Given the description of an element on the screen output the (x, y) to click on. 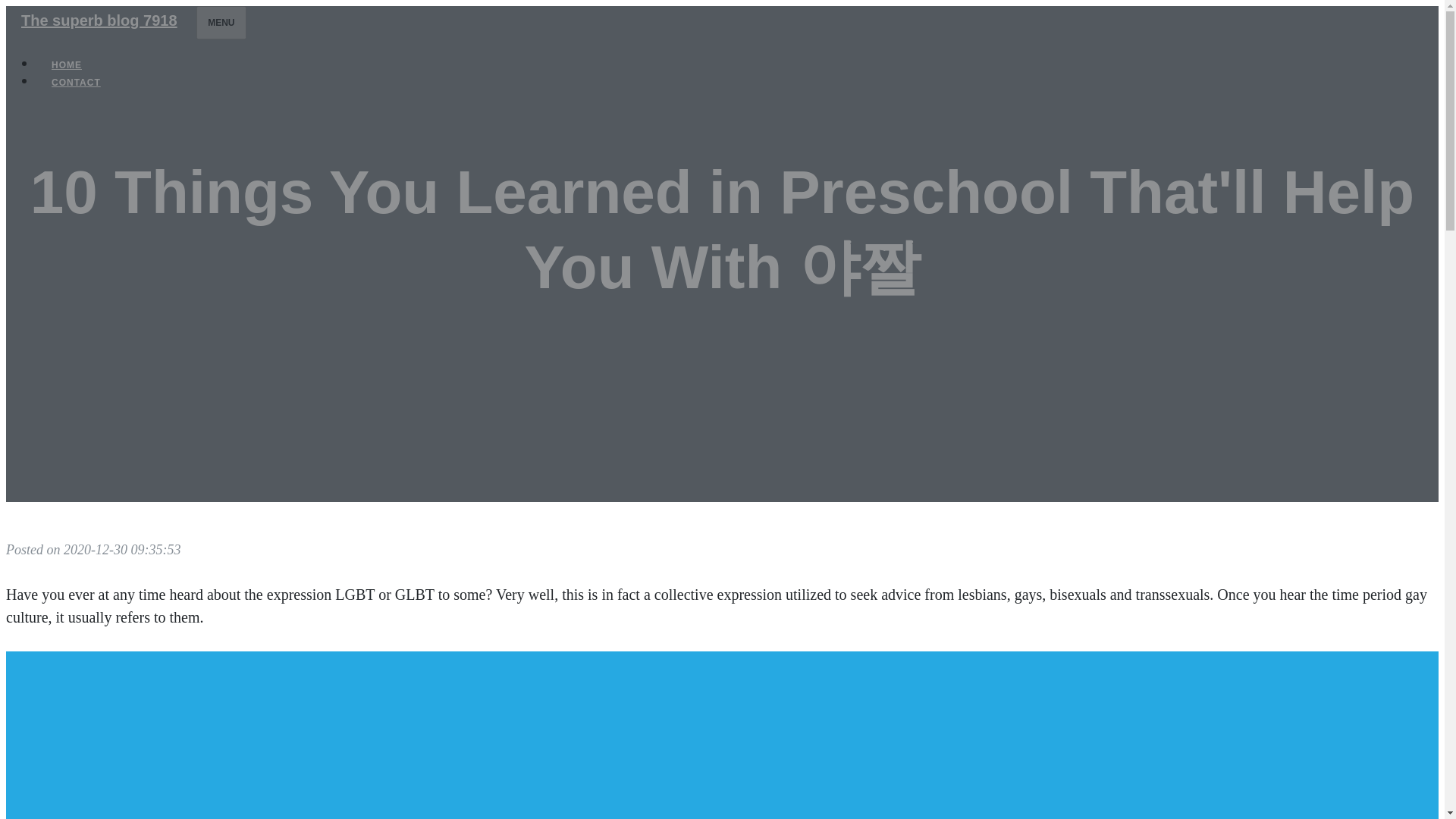
CONTACT (76, 82)
MENU (221, 22)
HOME (66, 64)
The superb blog 7918 (98, 20)
